Given the description of an element on the screen output the (x, y) to click on. 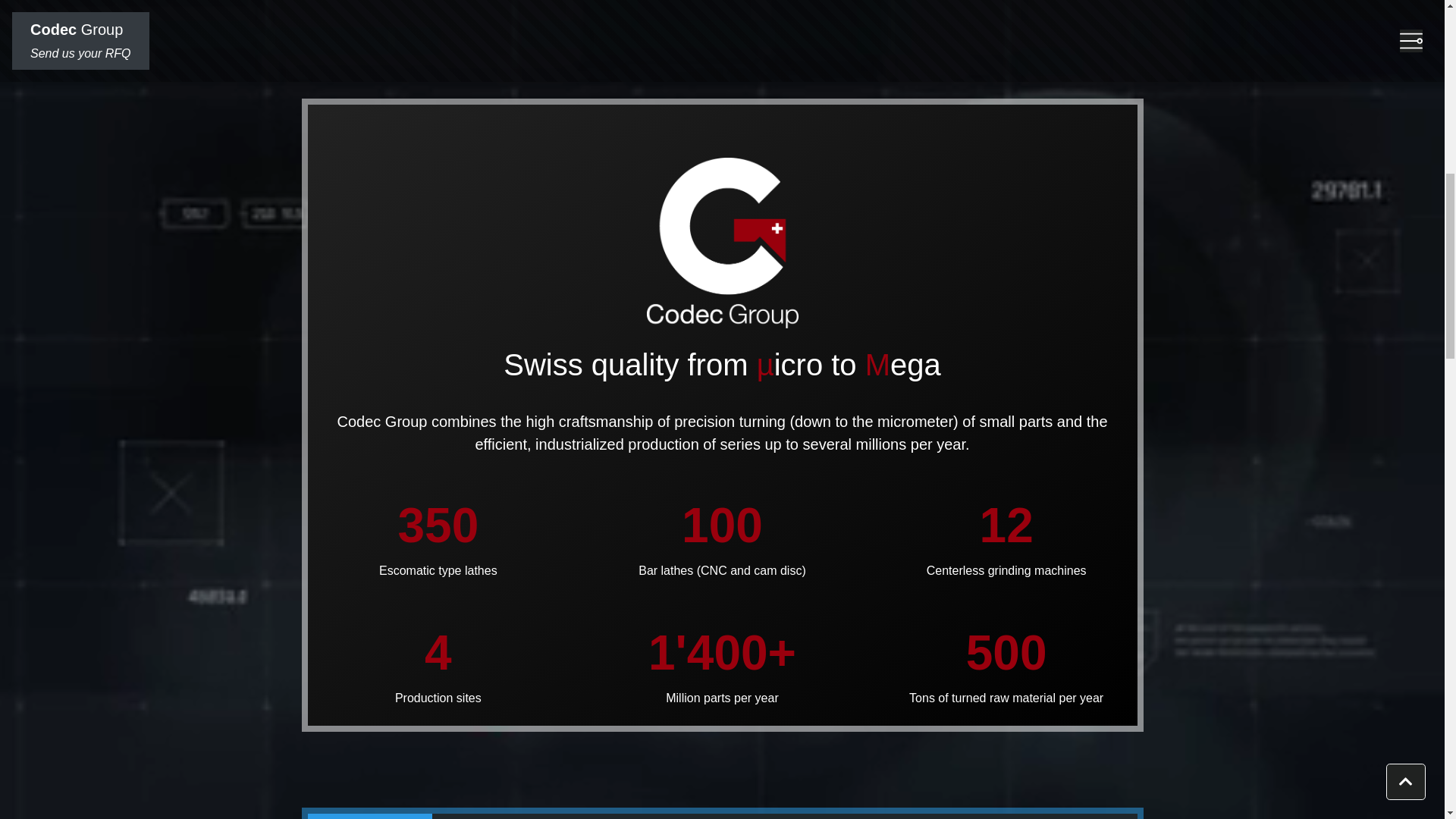
Codec Group
Send us your RFQ Element type: text (80, 40)
